Given the description of an element on the screen output the (x, y) to click on. 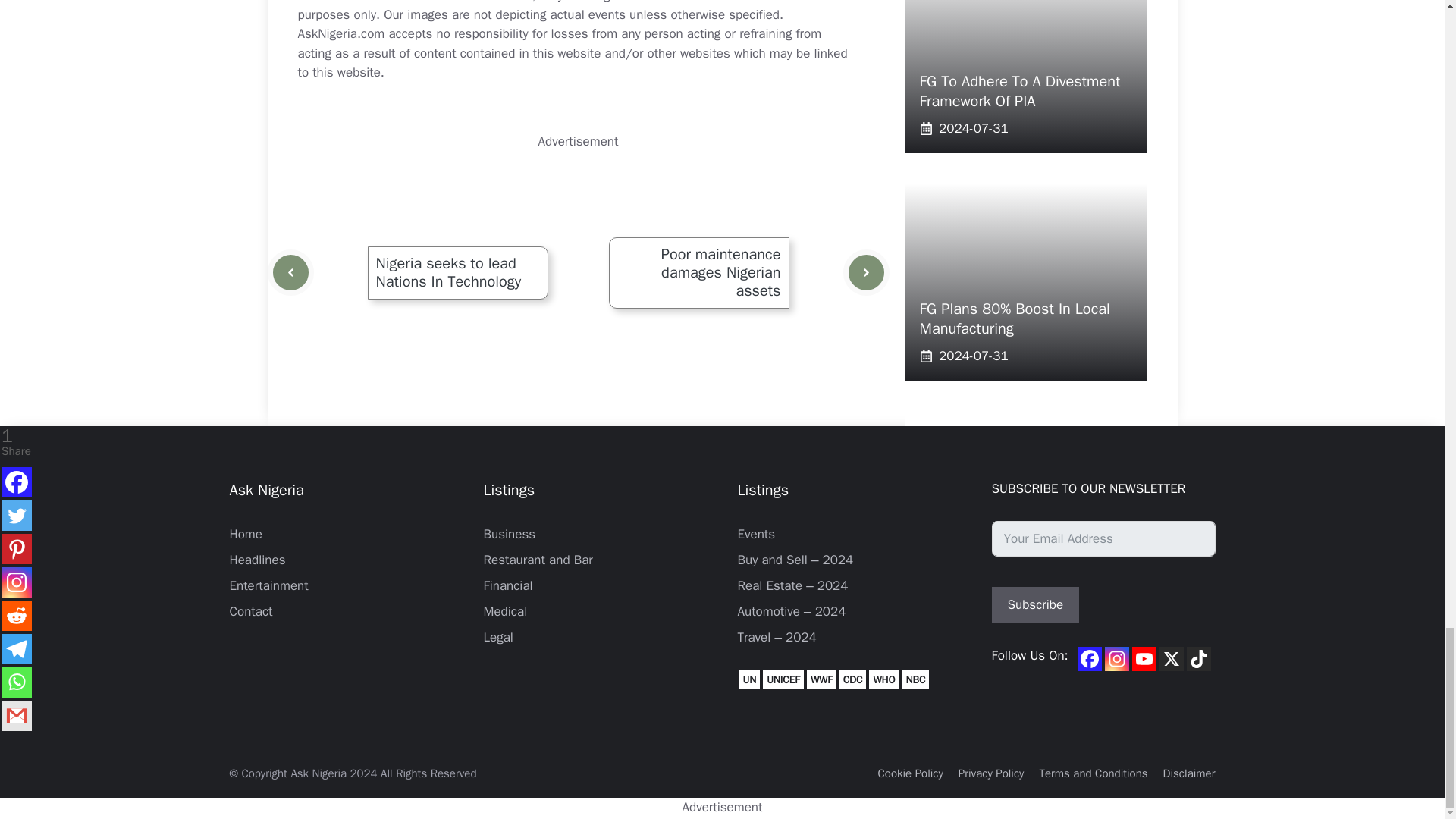
Youtube channel (1144, 658)
Instagram (1117, 658)
Facebook (1089, 658)
